Given the description of an element on the screen output the (x, y) to click on. 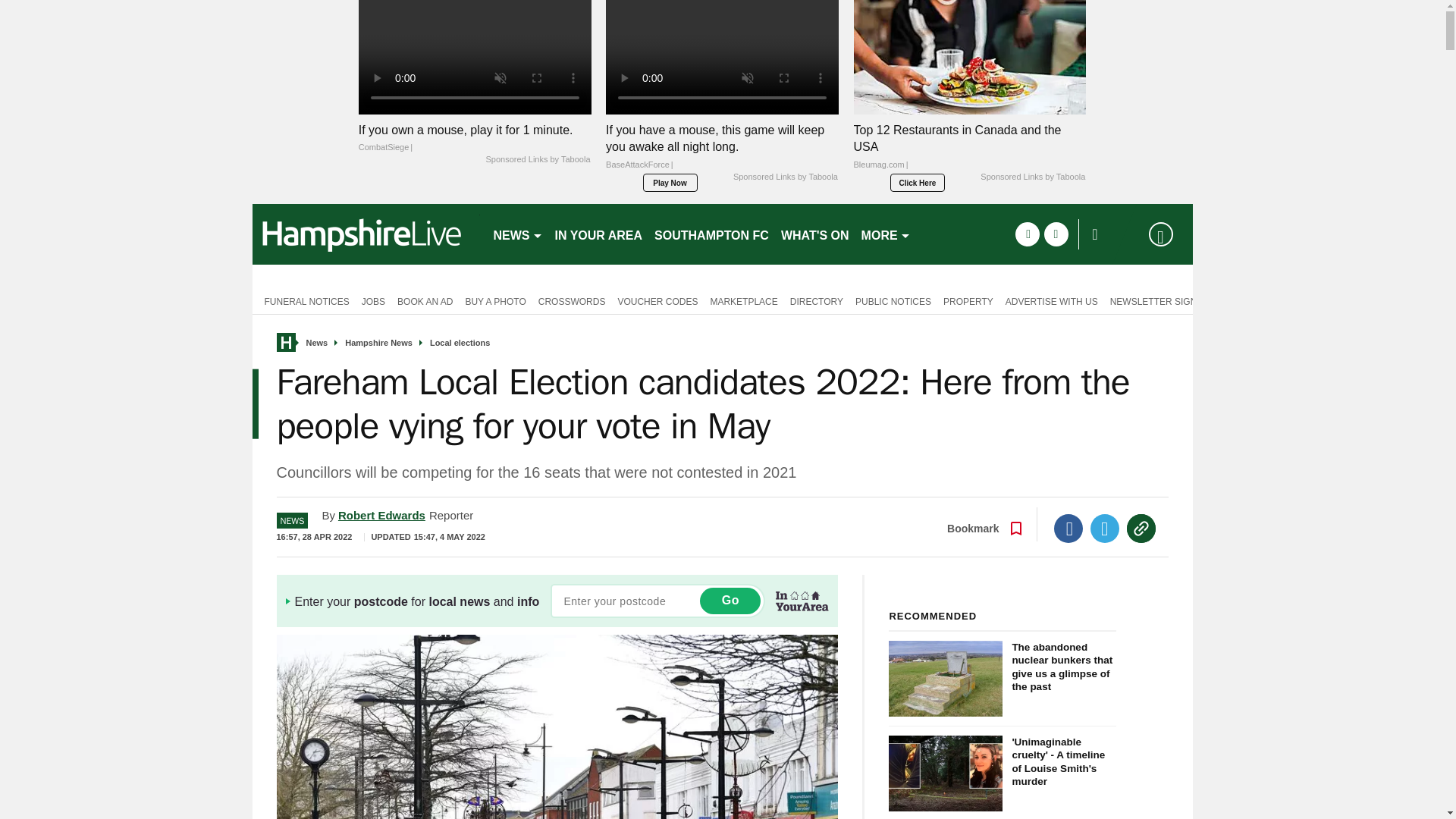
Click Here (916, 182)
SOUTHAMPTON FC (710, 233)
twitter (1055, 233)
MORE (886, 233)
Top 12 Restaurants in Canada and the USA (969, 151)
facebook (1026, 233)
WHAT'S ON (815, 233)
Play Now (670, 182)
hampshirelive (365, 233)
FUNERAL NOTICES (303, 300)
NEWS (517, 233)
Facebook (1068, 528)
Sponsored Links by Taboola (785, 176)
